Given the description of an element on the screen output the (x, y) to click on. 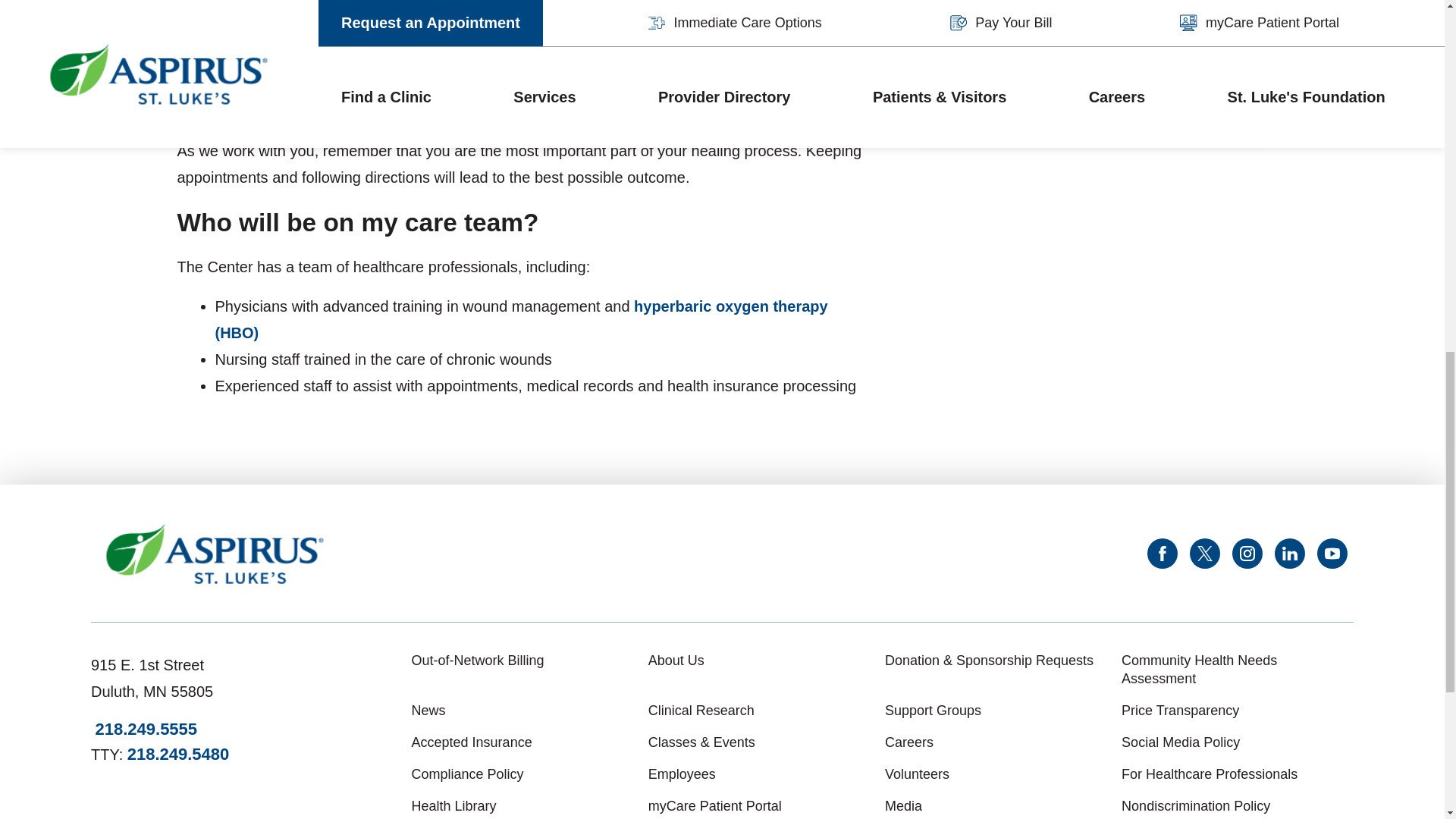
Aspirus St. Luke's (214, 553)
Twitter (1204, 553)
Instagram (1246, 553)
YouTube (1332, 553)
Facebook (1162, 553)
LinkedIn (1289, 553)
